Given the description of an element on the screen output the (x, y) to click on. 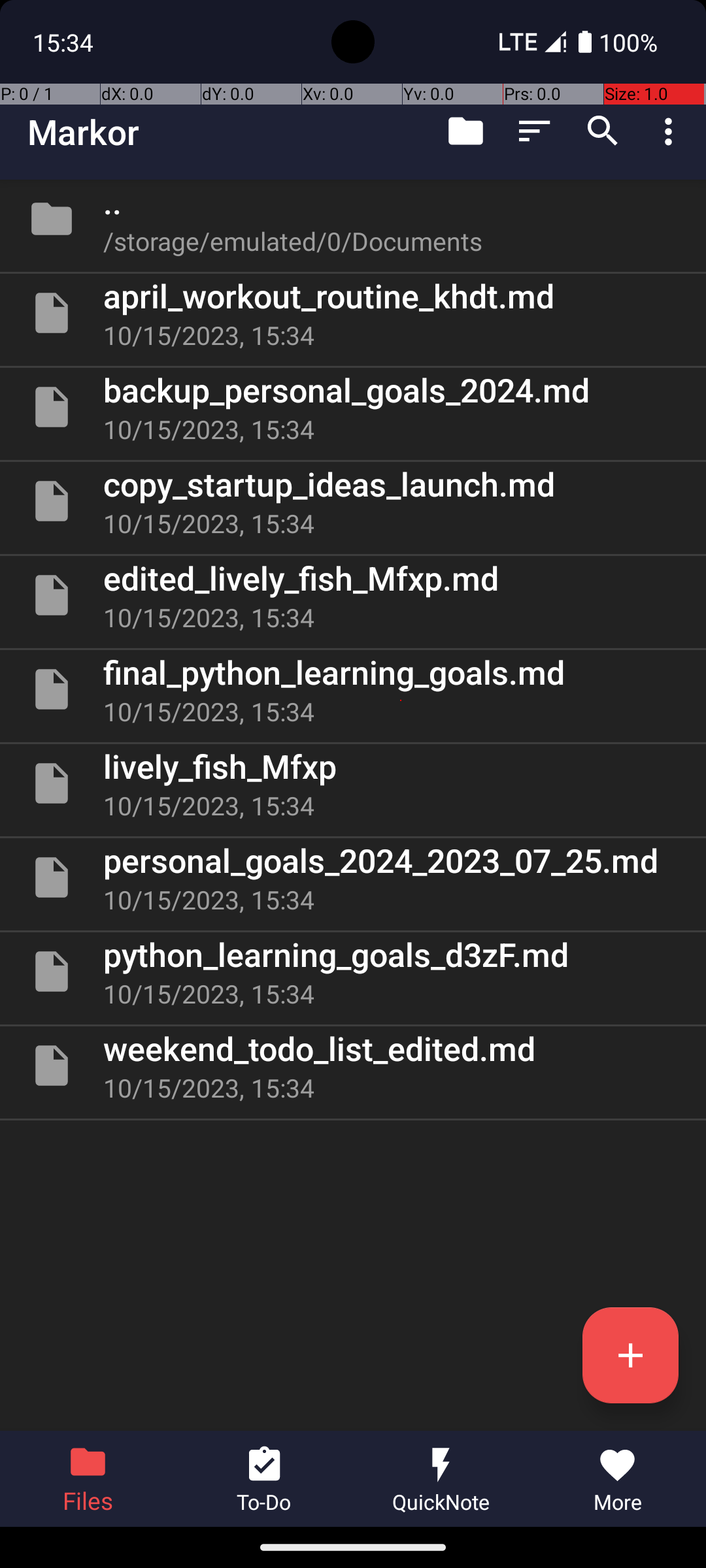
File april_workout_routine_khdt.md  Element type: android.widget.LinearLayout (353, 312)
File backup_personal_goals_2024.md  Element type: android.widget.LinearLayout (353, 406)
File copy_startup_ideas_launch.md  Element type: android.widget.LinearLayout (353, 500)
File edited_lively_fish_Mfxp.md  Element type: android.widget.LinearLayout (353, 594)
File final_python_learning_goals.md  Element type: android.widget.LinearLayout (353, 689)
File lively_fish_Mfxp  Element type: android.widget.LinearLayout (353, 783)
File personal_goals_2024_2023_07_25.md  Element type: android.widget.LinearLayout (353, 877)
File python_learning_goals_d3zF.md  Element type: android.widget.LinearLayout (353, 971)
File weekend_todo_list_edited.md  Element type: android.widget.LinearLayout (353, 1065)
